Given the description of an element on the screen output the (x, y) to click on. 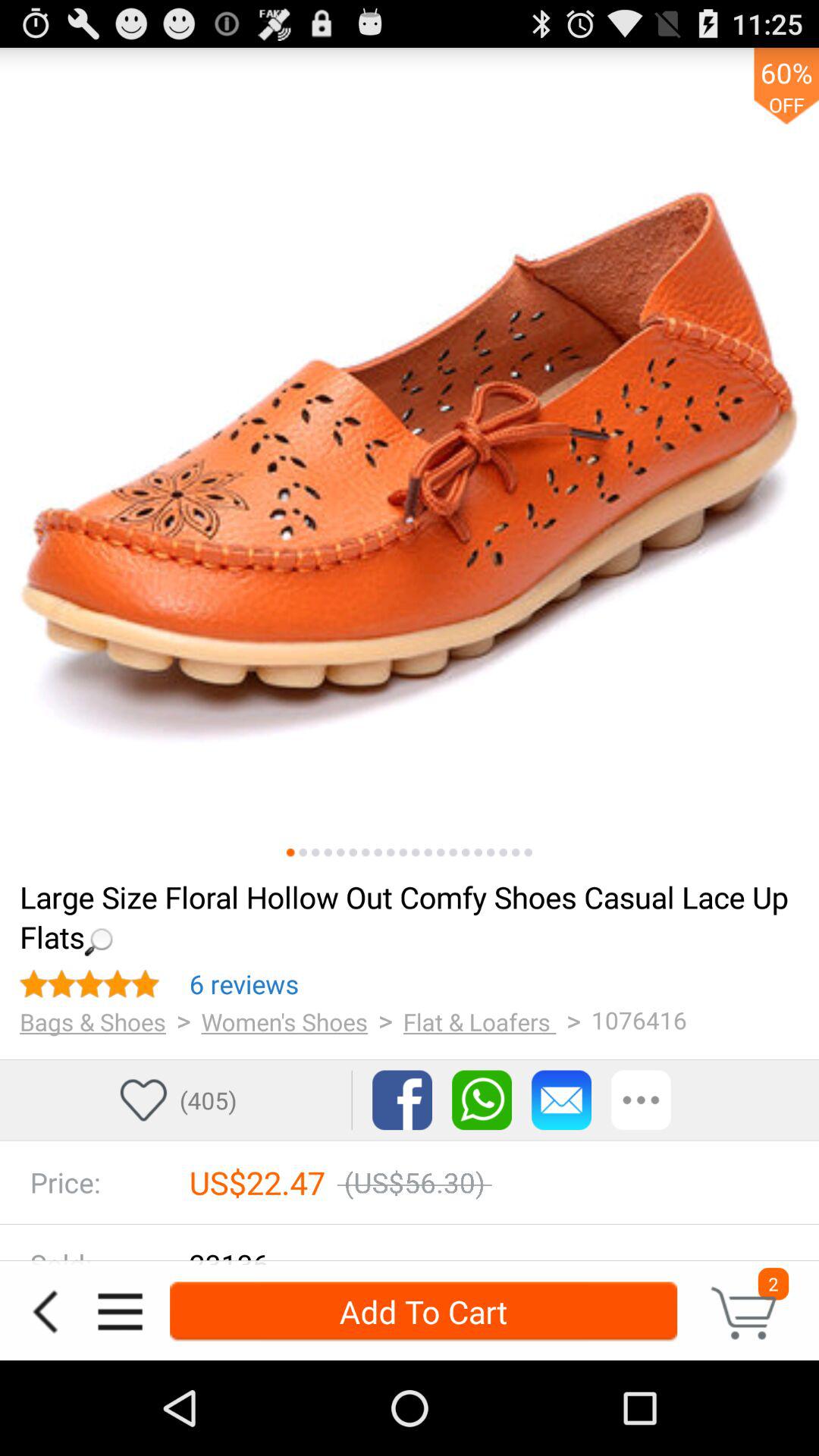
select image (440, 852)
